Given the description of an element on the screen output the (x, y) to click on. 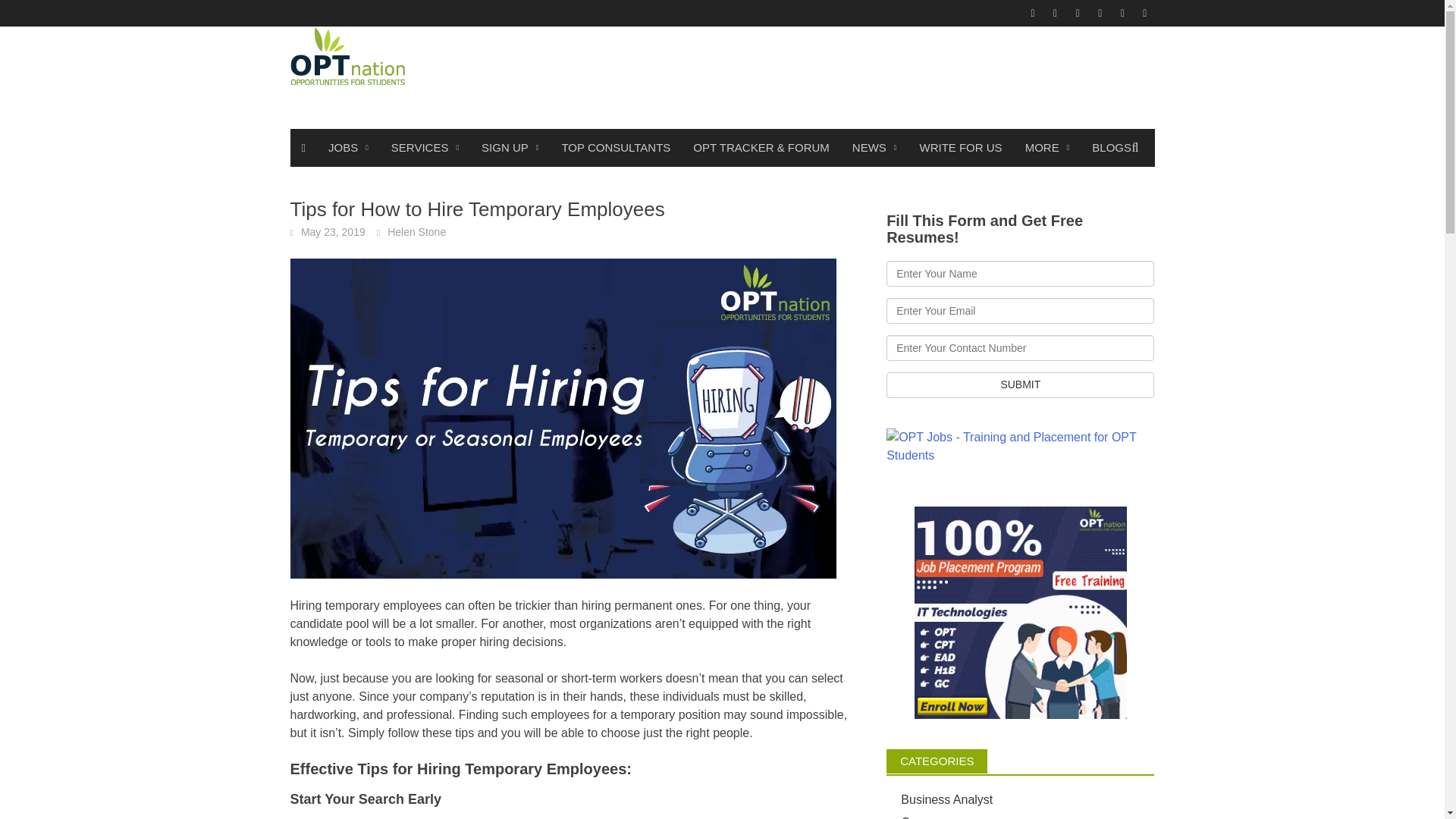
MORE (1047, 147)
SIGN UP (510, 147)
WRITE FOR US (960, 147)
SERVICES (425, 147)
May 23, 2019 (333, 232)
TOP CONSULTANTS (615, 147)
JOBS (348, 147)
NEWS (874, 147)
BLOGS (1111, 147)
